Given the description of an element on the screen output the (x, y) to click on. 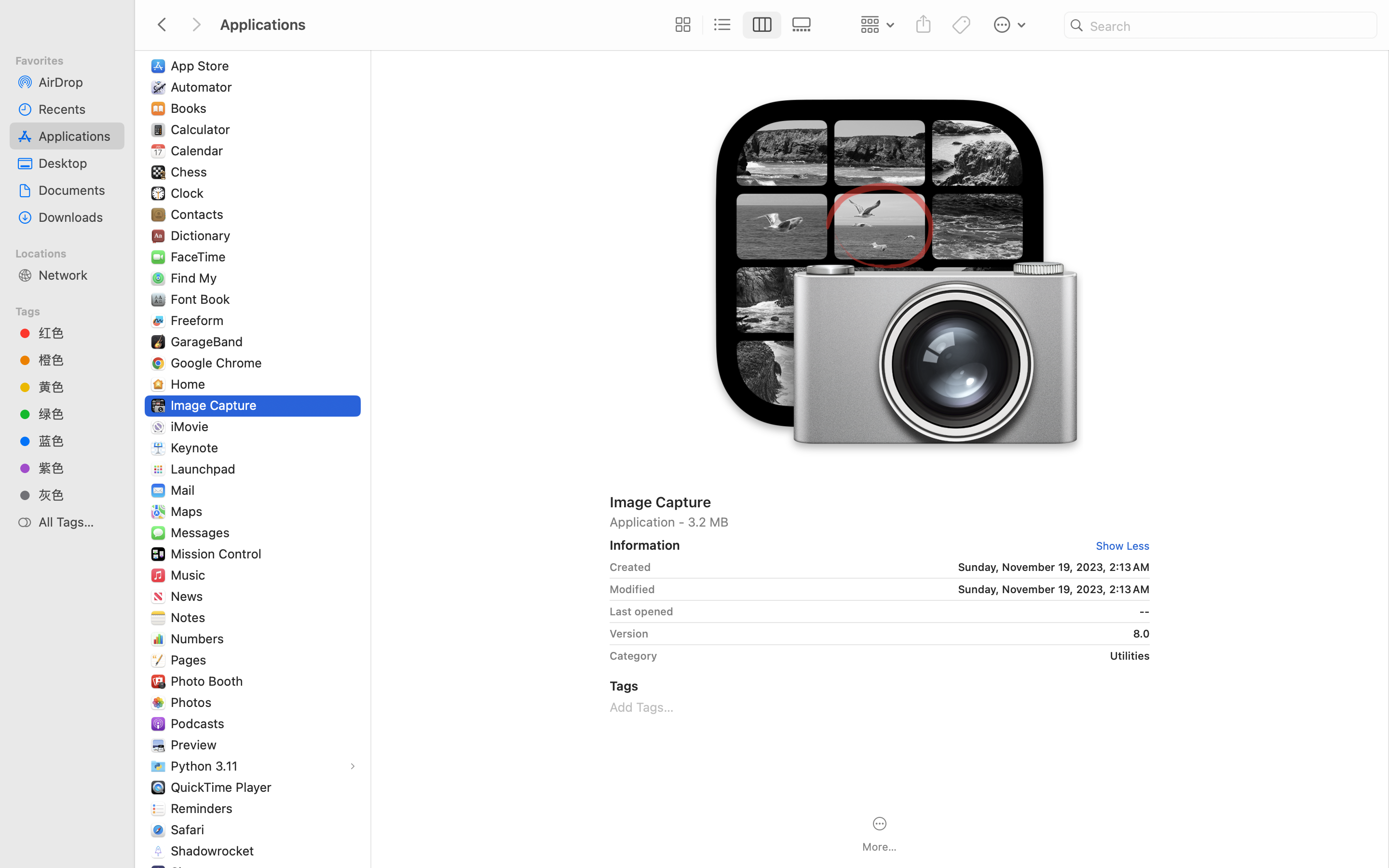
Maps Element type: AXTextField (188, 510)
红色 Element type: AXStaticText (77, 332)
Preview Element type: AXTextField (195, 744)
Launchpad Element type: AXTextField (205, 468)
Calculator Element type: AXTextField (202, 128)
